Given the description of an element on the screen output the (x, y) to click on. 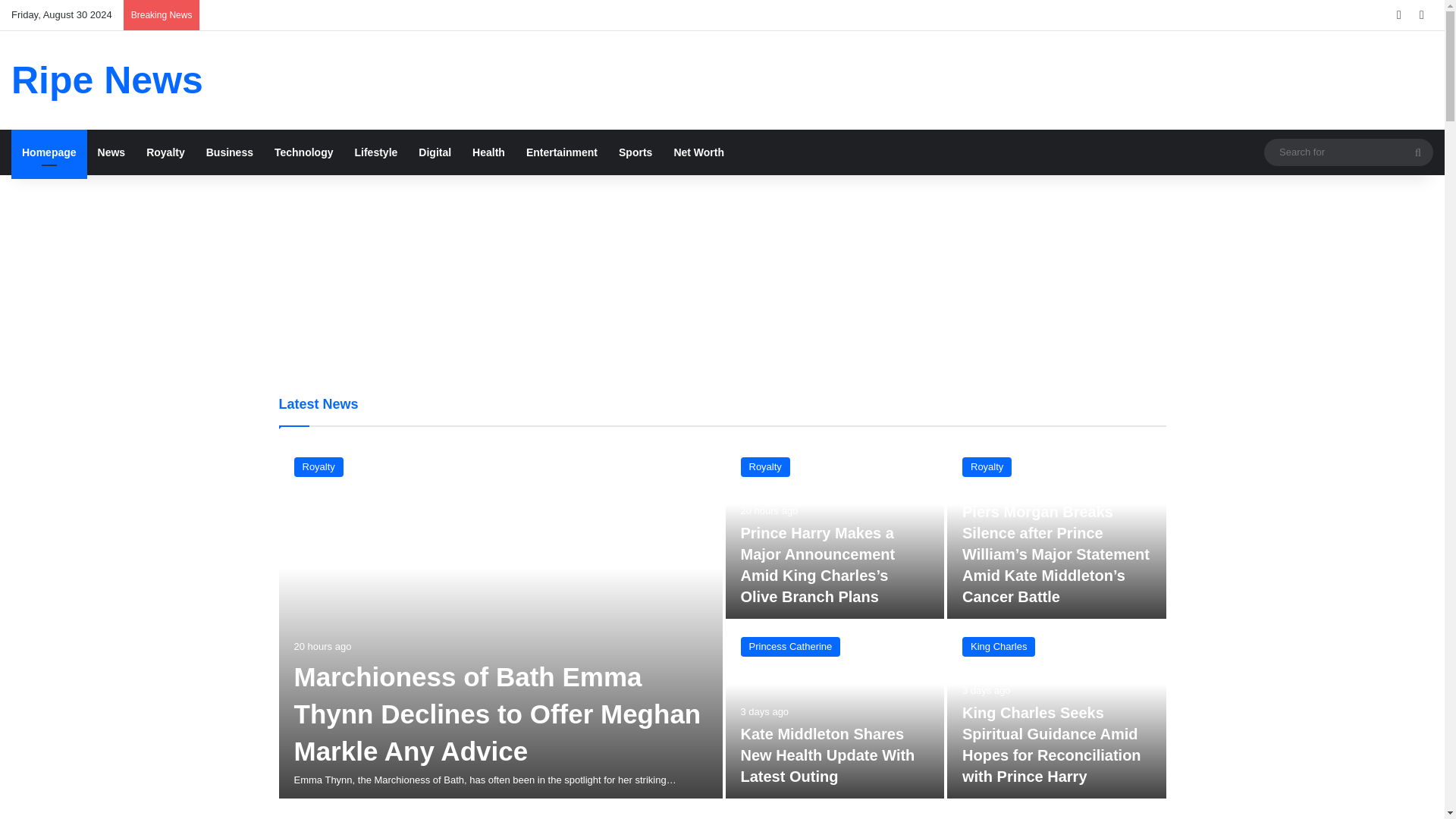
Business (229, 152)
Royalty (986, 466)
Lifestyle (376, 152)
Digital (434, 152)
Health (488, 152)
Homepage (49, 152)
Entertainment (561, 152)
Sports (635, 152)
Net Worth (698, 152)
